Given the description of an element on the screen output the (x, y) to click on. 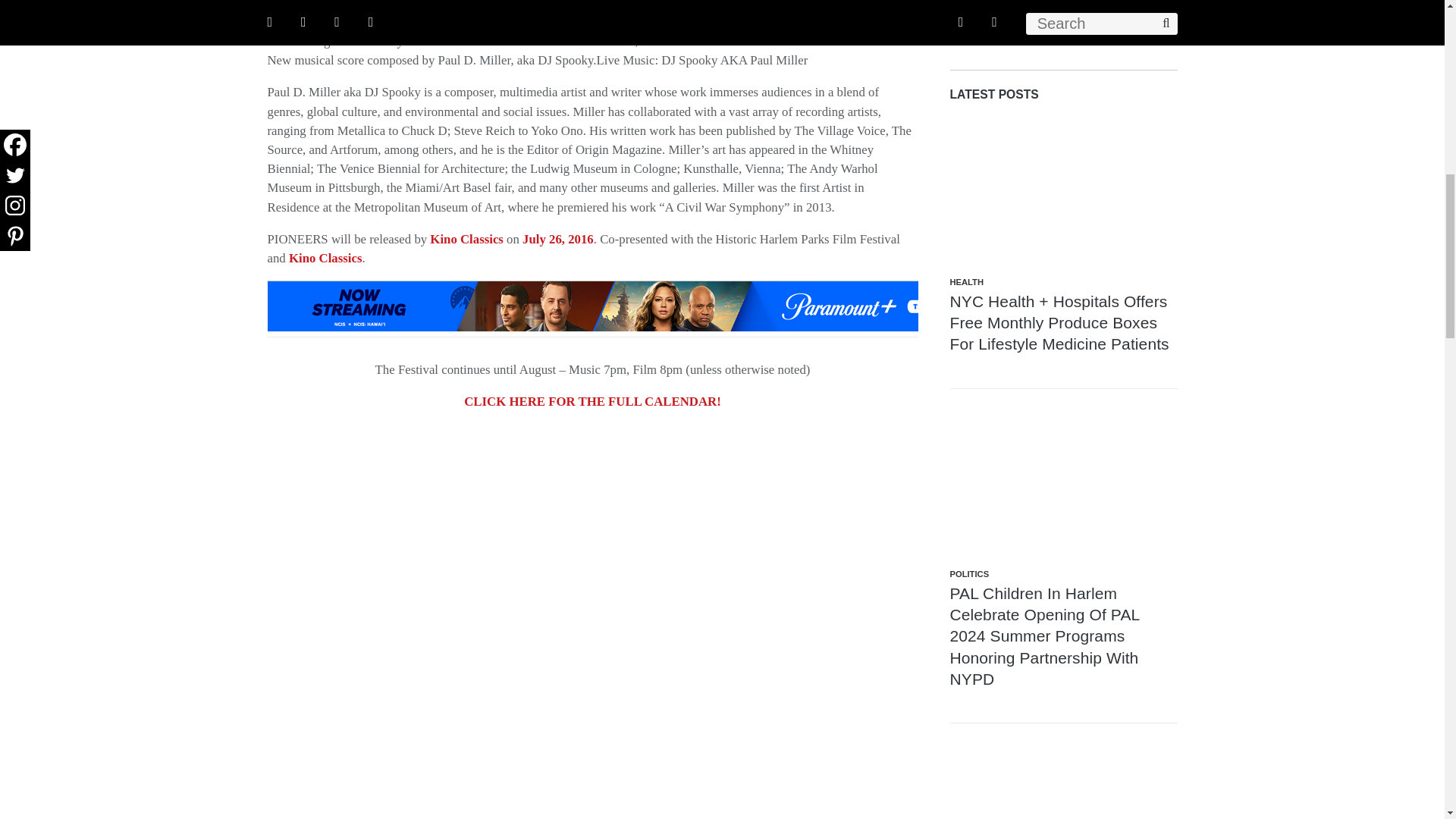
Kino Classics (325, 257)
Kino Classics (466, 238)
July 26, 2016 (558, 238)
CLICK HERE FOR THE FULL CALENDAR! (592, 400)
